Given the description of an element on the screen output the (x, y) to click on. 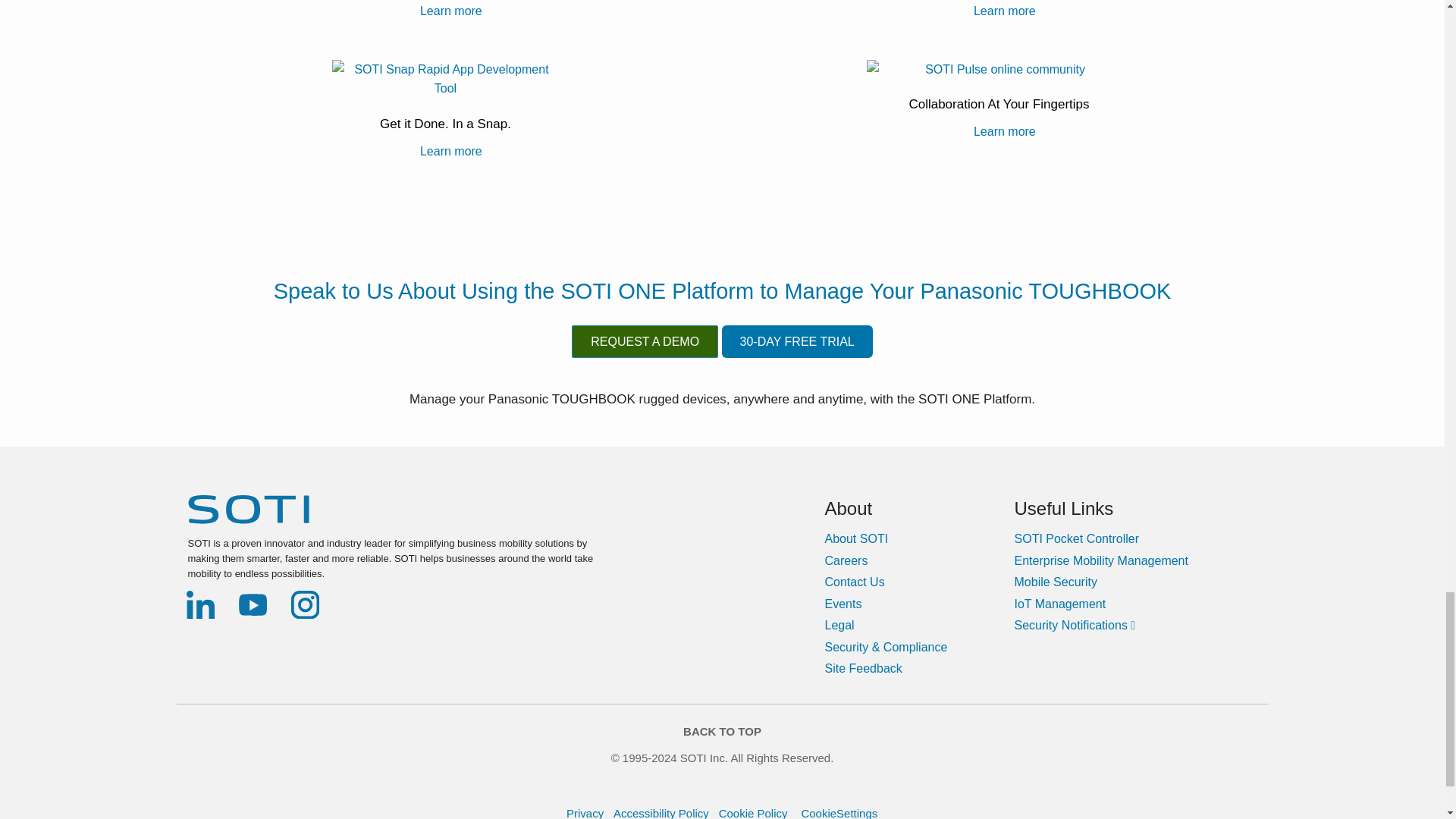
Instagram Logo (304, 604)
YouTube Logo (252, 604)
LinkedIn Logo (200, 604)
SOTI Inc. Logo (247, 509)
